Given the description of an element on the screen output the (x, y) to click on. 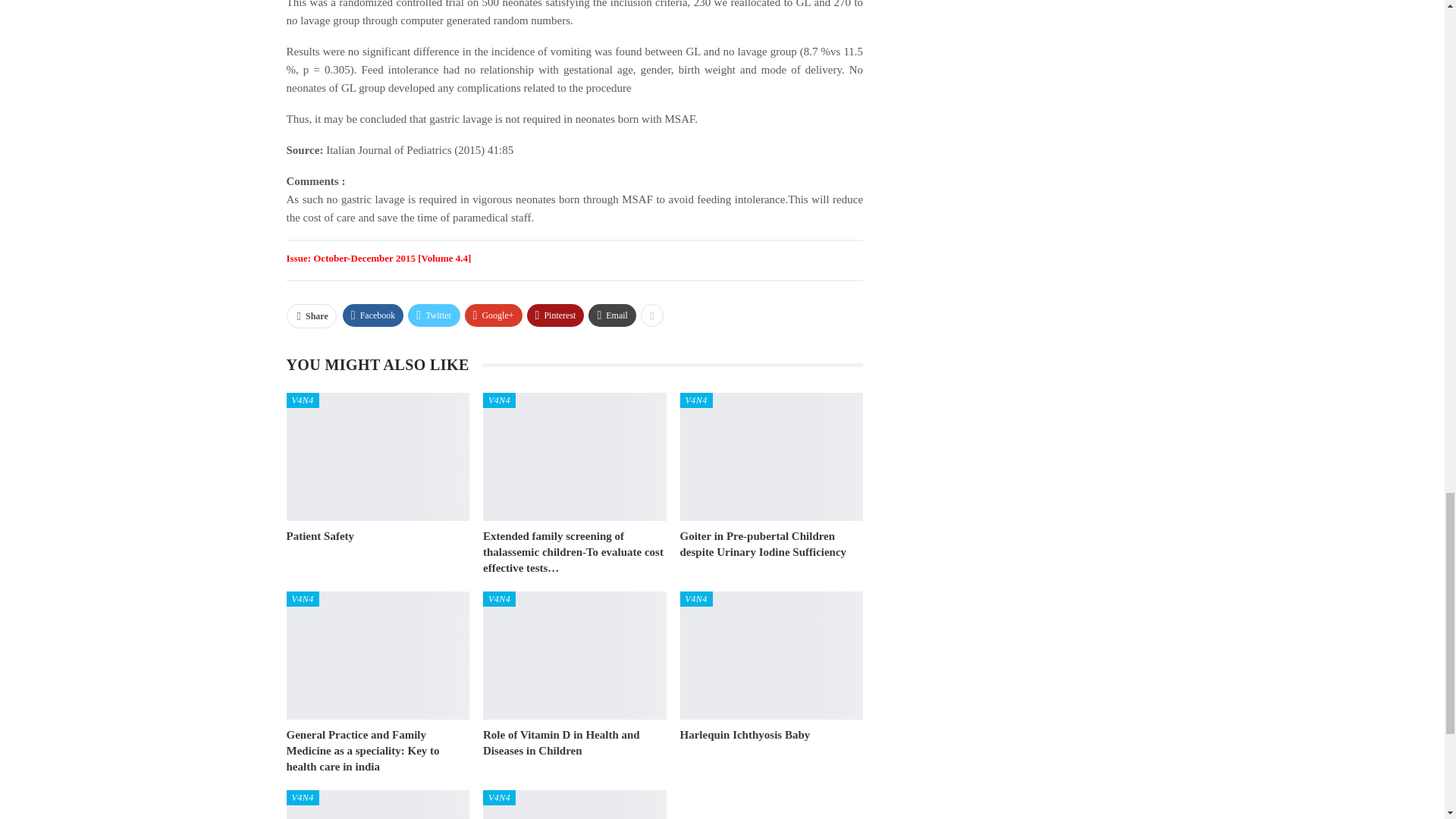
Patient Safety (378, 456)
Twitter (433, 314)
V4N4 (302, 400)
V4N4 (302, 598)
Harlequin Ichthyosis Baby (744, 734)
V4N4 (499, 400)
